Given the description of an element on the screen output the (x, y) to click on. 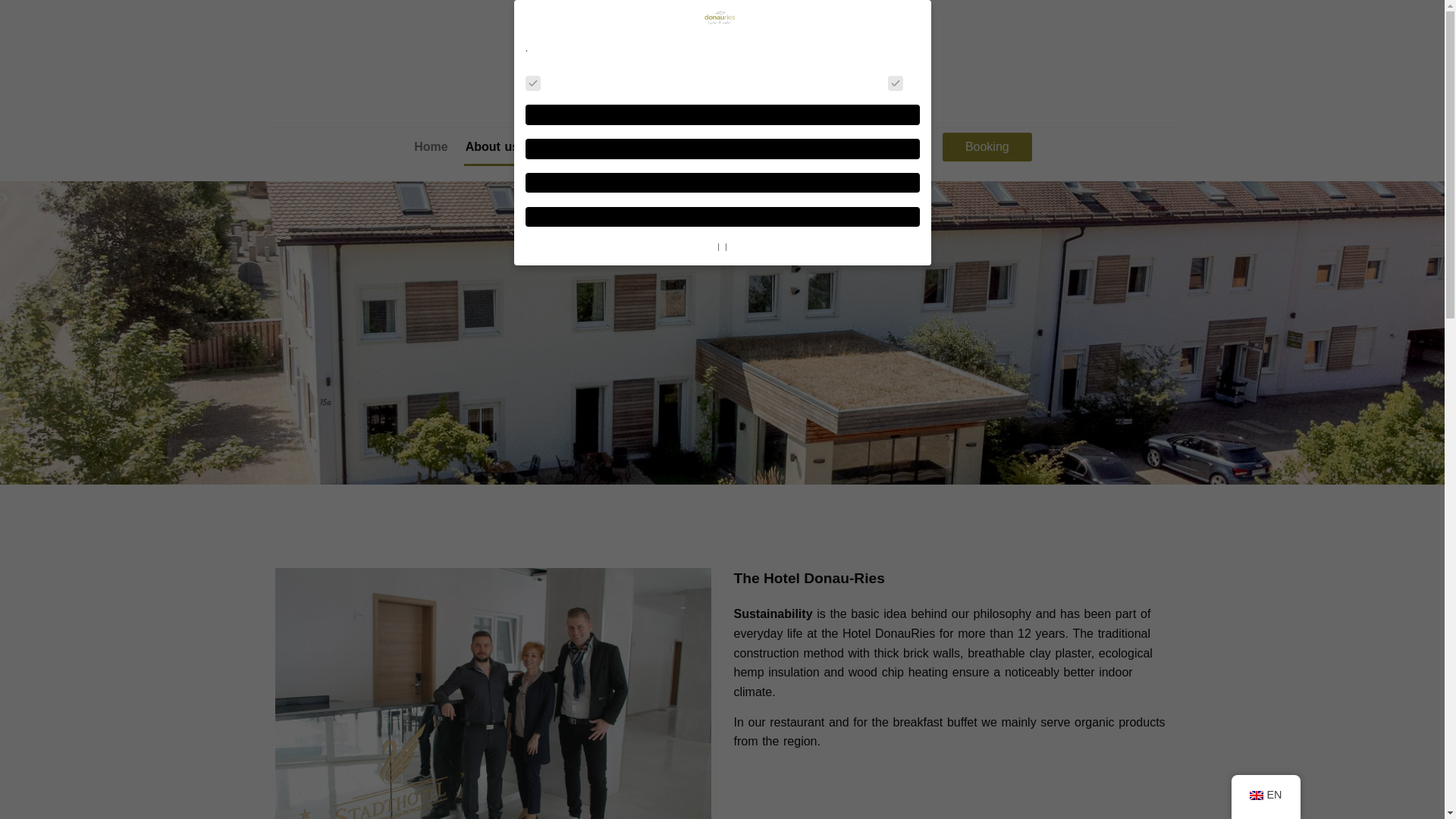
Booking (987, 146)
Home (430, 146)
Contact us (893, 146)
Check-In (614, 146)
Room (553, 146)
Media (827, 146)
Restaurant (688, 146)
About us (492, 146)
Breakfast (765, 146)
